Given the description of an element on the screen output the (x, y) to click on. 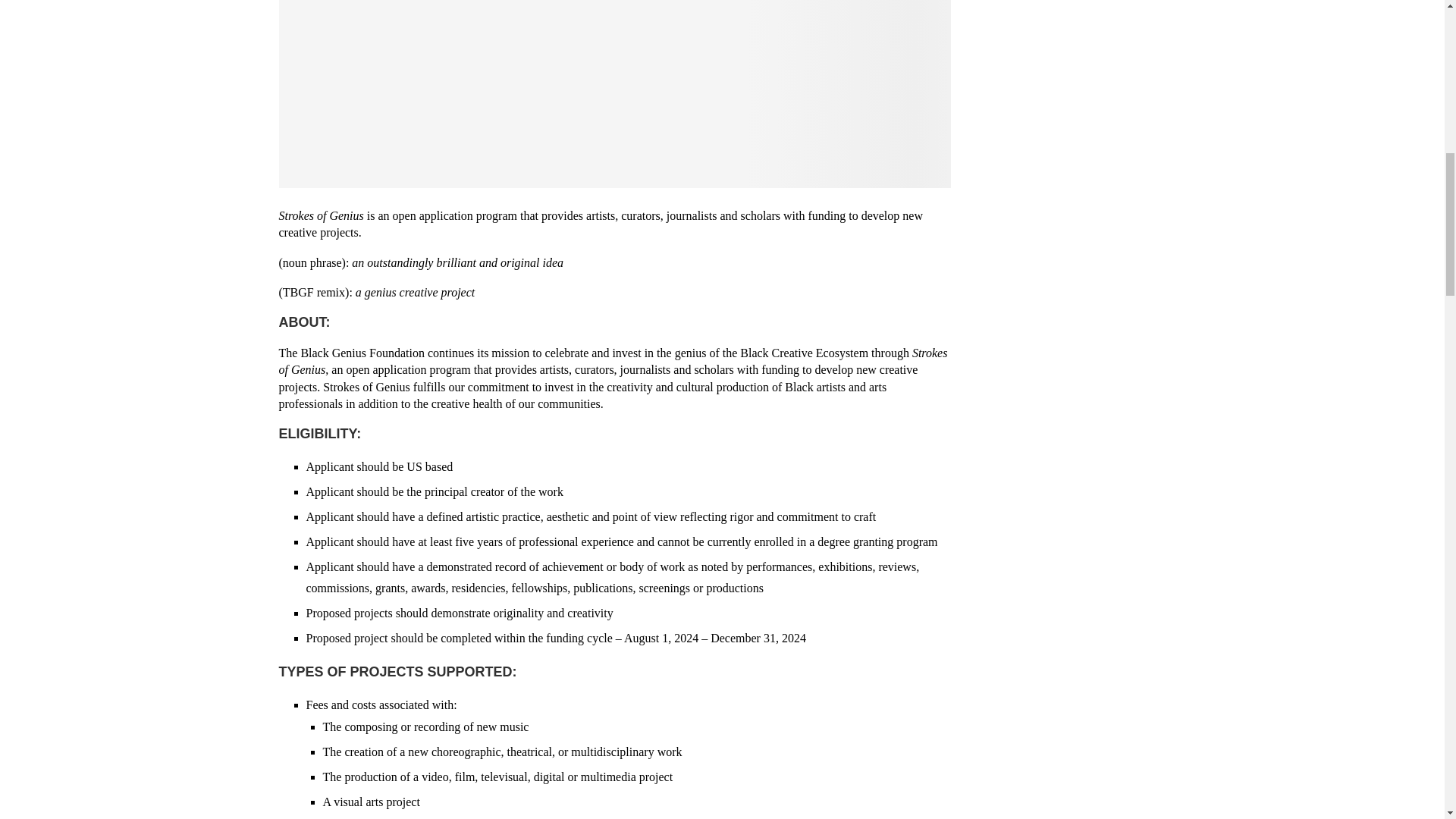
Screenshot 2024-04-03 at 2.04.48 PM (614, 94)
